Given the description of an element on the screen output the (x, y) to click on. 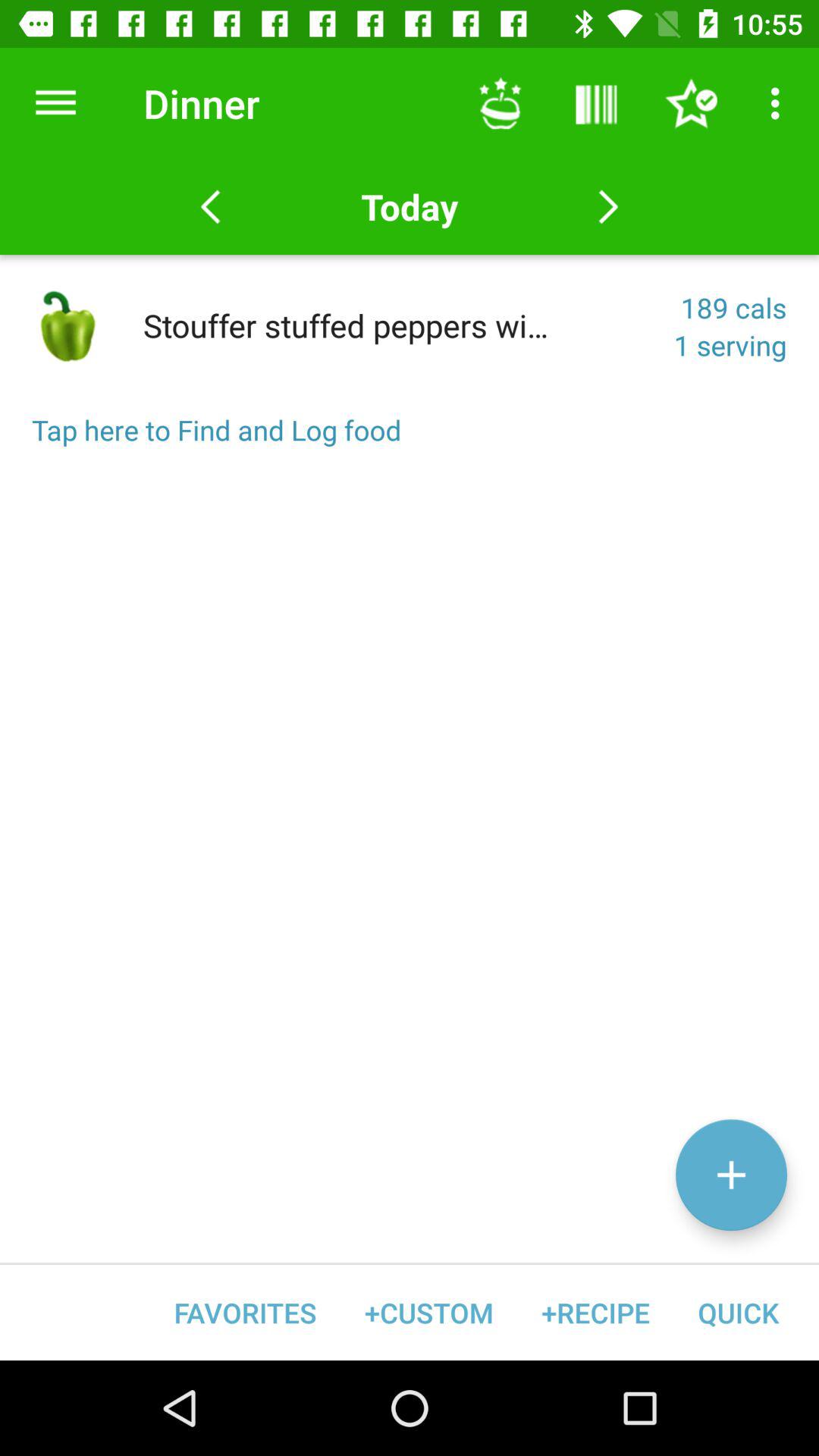
scroll until +recipe item (595, 1312)
